Given the description of an element on the screen output the (x, y) to click on. 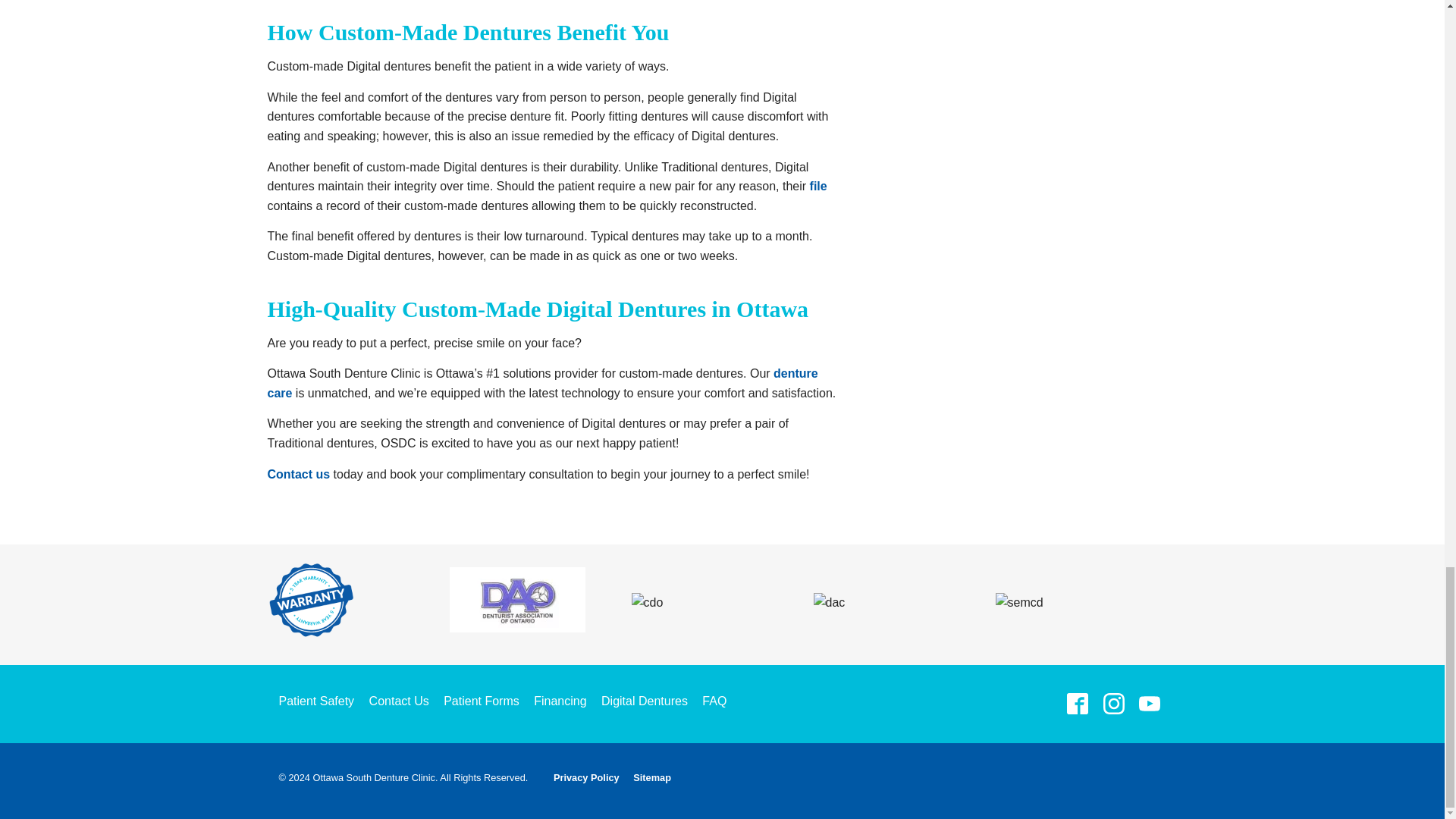
facebook (1077, 703)
instagram (1113, 703)
youtube (1149, 703)
